Given the description of an element on the screen output the (x, y) to click on. 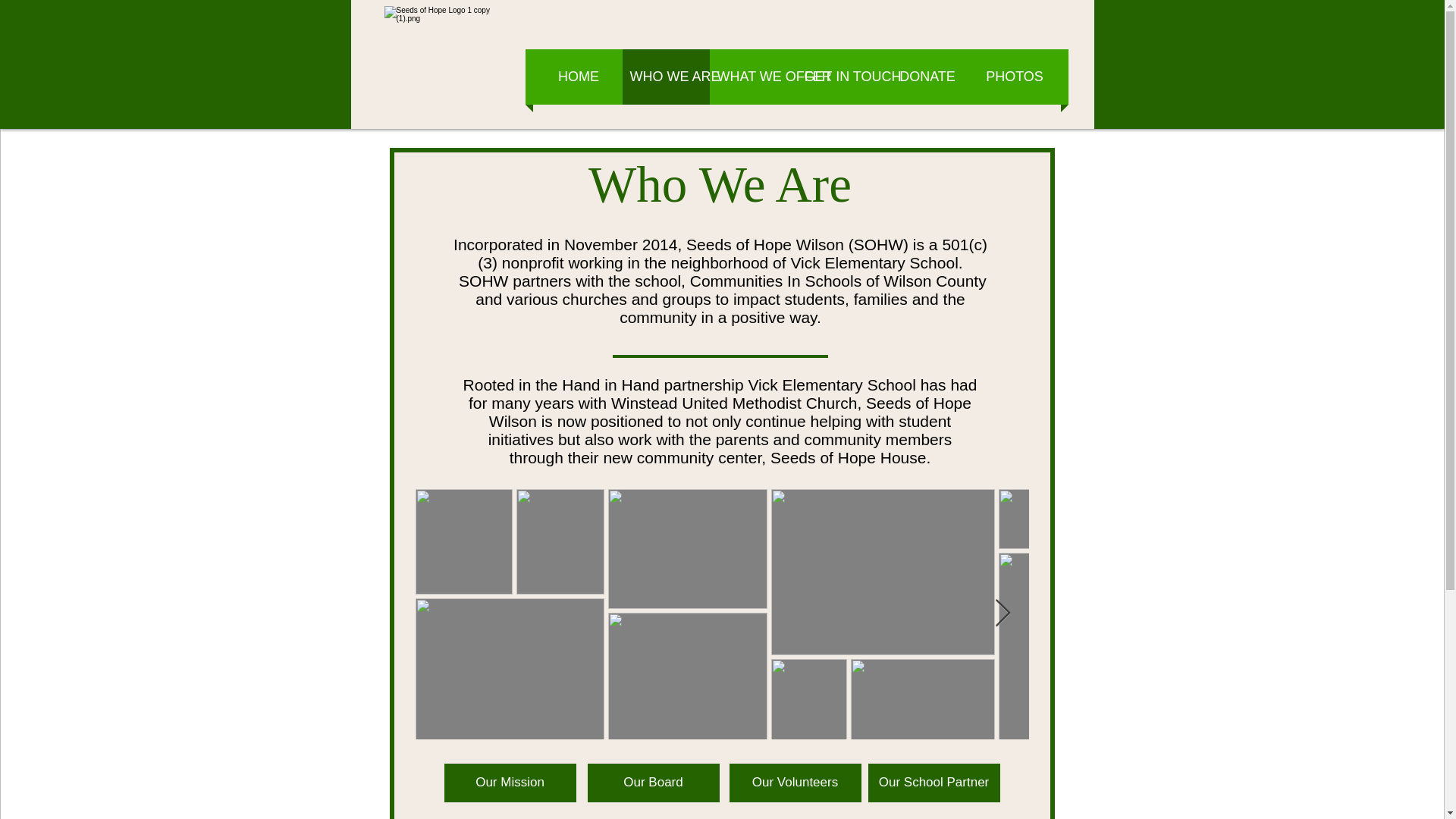
WHAT WE OFFER (753, 76)
DONATE (927, 76)
Our Volunteers (795, 782)
GET IN TOUCH (839, 76)
Our Board (652, 782)
PHOTOS (1014, 76)
HOME (579, 76)
Our Mission (510, 782)
WHO WE ARE (665, 76)
Our School Partner (932, 782)
